Given the description of an element on the screen output the (x, y) to click on. 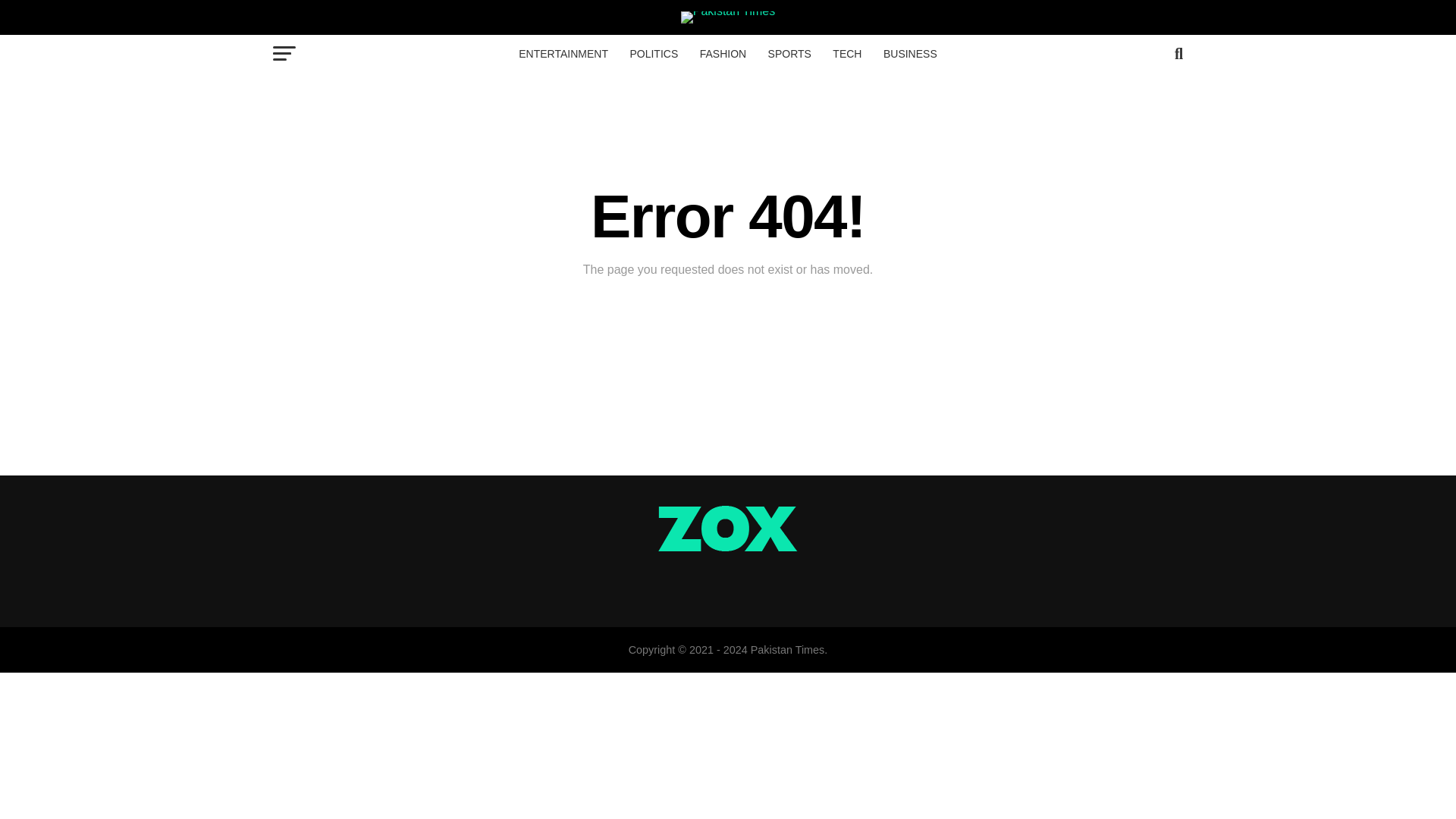
TECH (847, 53)
ENTERTAINMENT (563, 53)
BUSINESS (910, 53)
POLITICS (653, 53)
FASHION (722, 53)
SPORTS (789, 53)
